Given the description of an element on the screen output the (x, y) to click on. 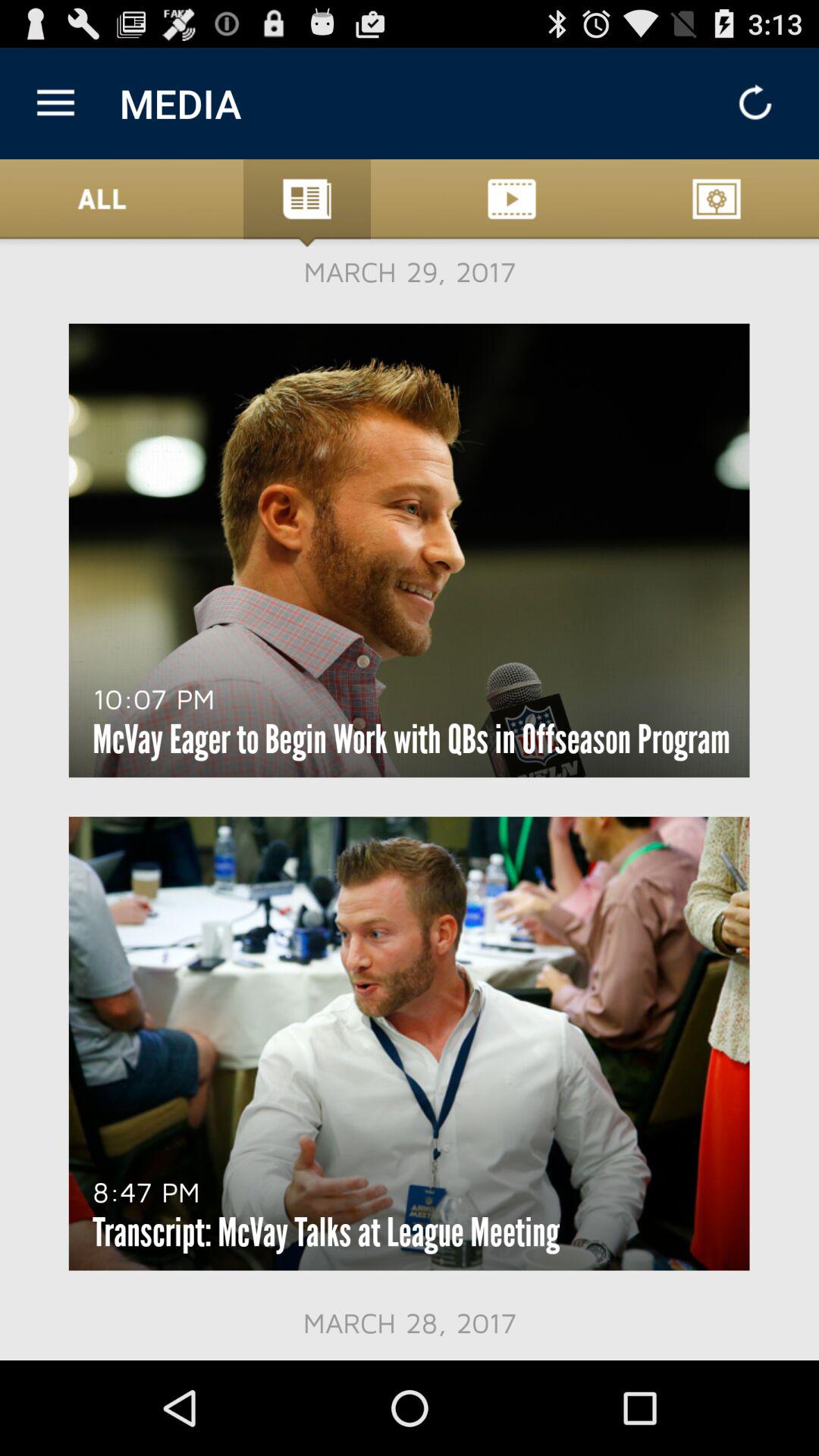
press the icon above transcript mcvay talks (146, 1191)
